Given the description of an element on the screen output the (x, y) to click on. 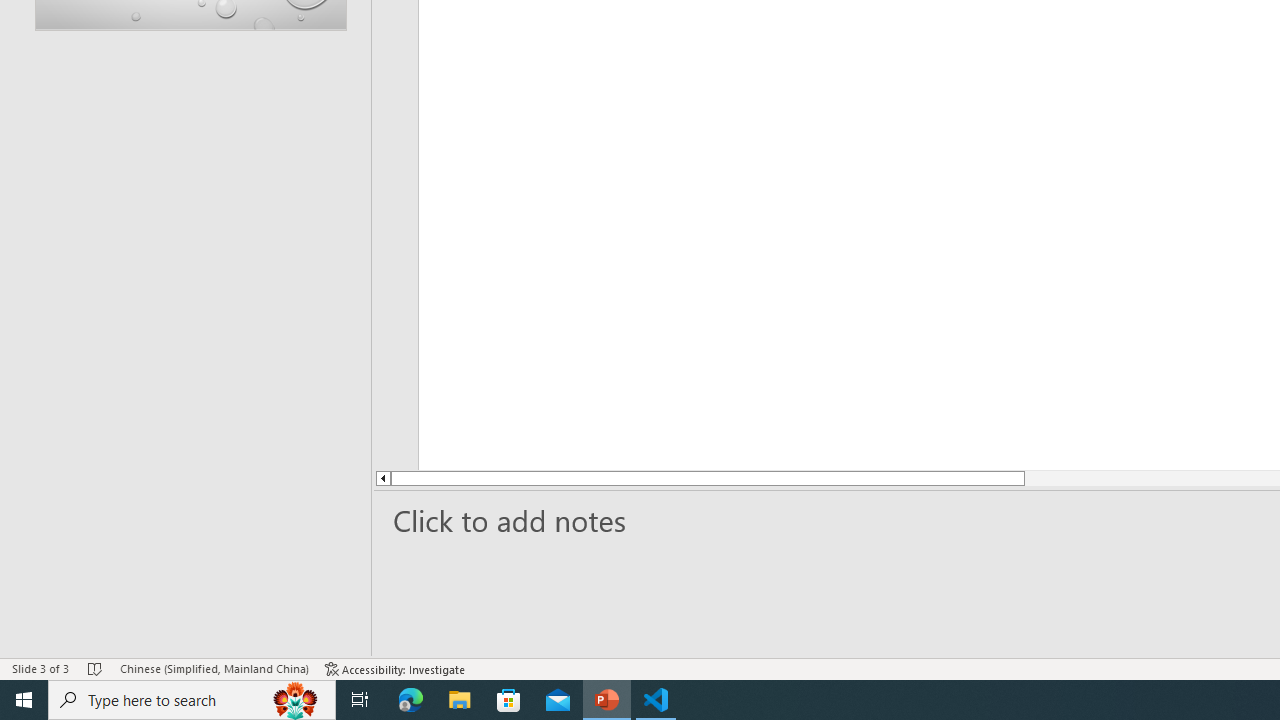
Line up (381, 478)
Accessibility Checker Accessibility: Investigate (395, 668)
Spell Check No Errors (95, 668)
